Given the description of an element on the screen output the (x, y) to click on. 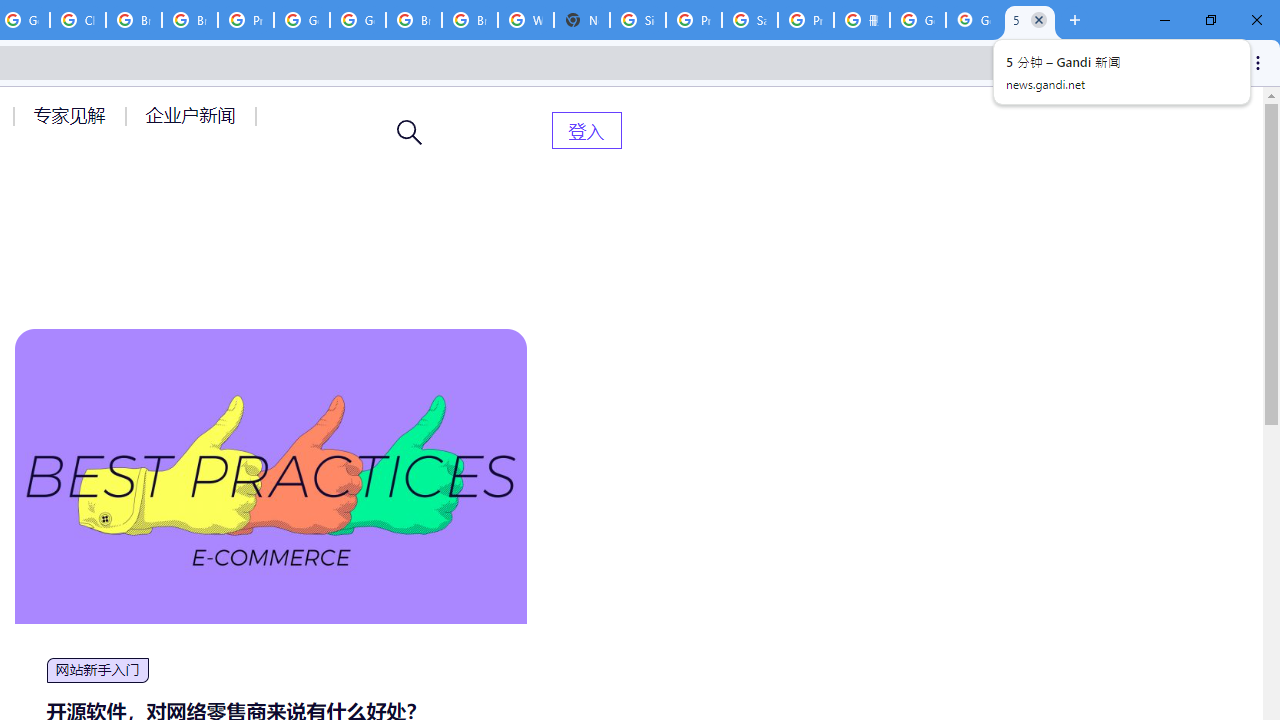
AutomationID: menu-item-77765 (194, 115)
AutomationID: menu-item-82399 (586, 129)
Open search form (410, 132)
Browse Chrome as a guest - Computer - Google Chrome Help (134, 20)
Google Cloud Platform (301, 20)
AutomationID: menu-item-77764 (72, 115)
